Given the description of an element on the screen output the (x, y) to click on. 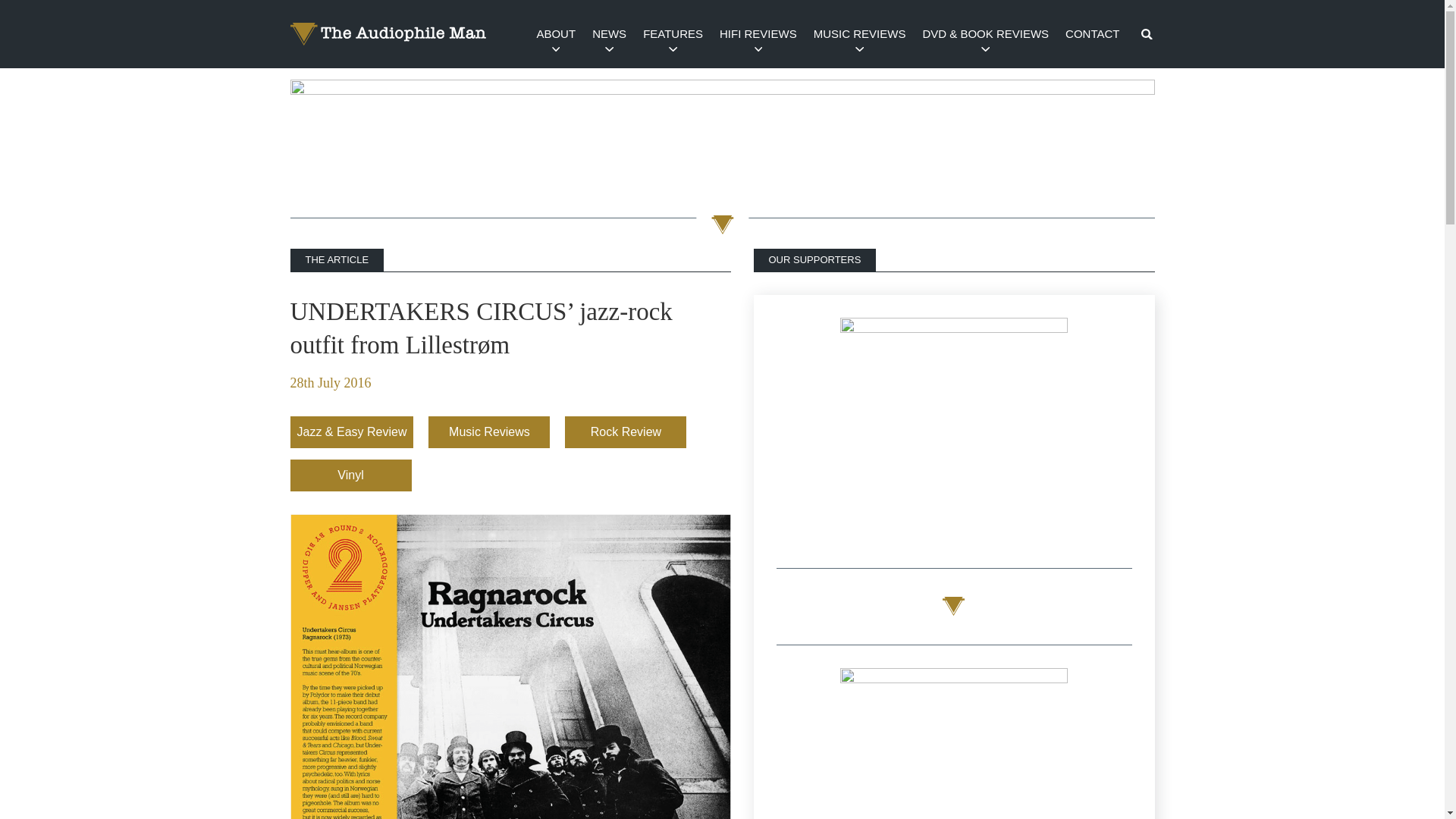
FEATURES (672, 33)
NEWS (608, 33)
MUSIC REVIEWS (859, 33)
ABOUT (555, 33)
HIFI REVIEWS (758, 33)
